Given the description of an element on the screen output the (x, y) to click on. 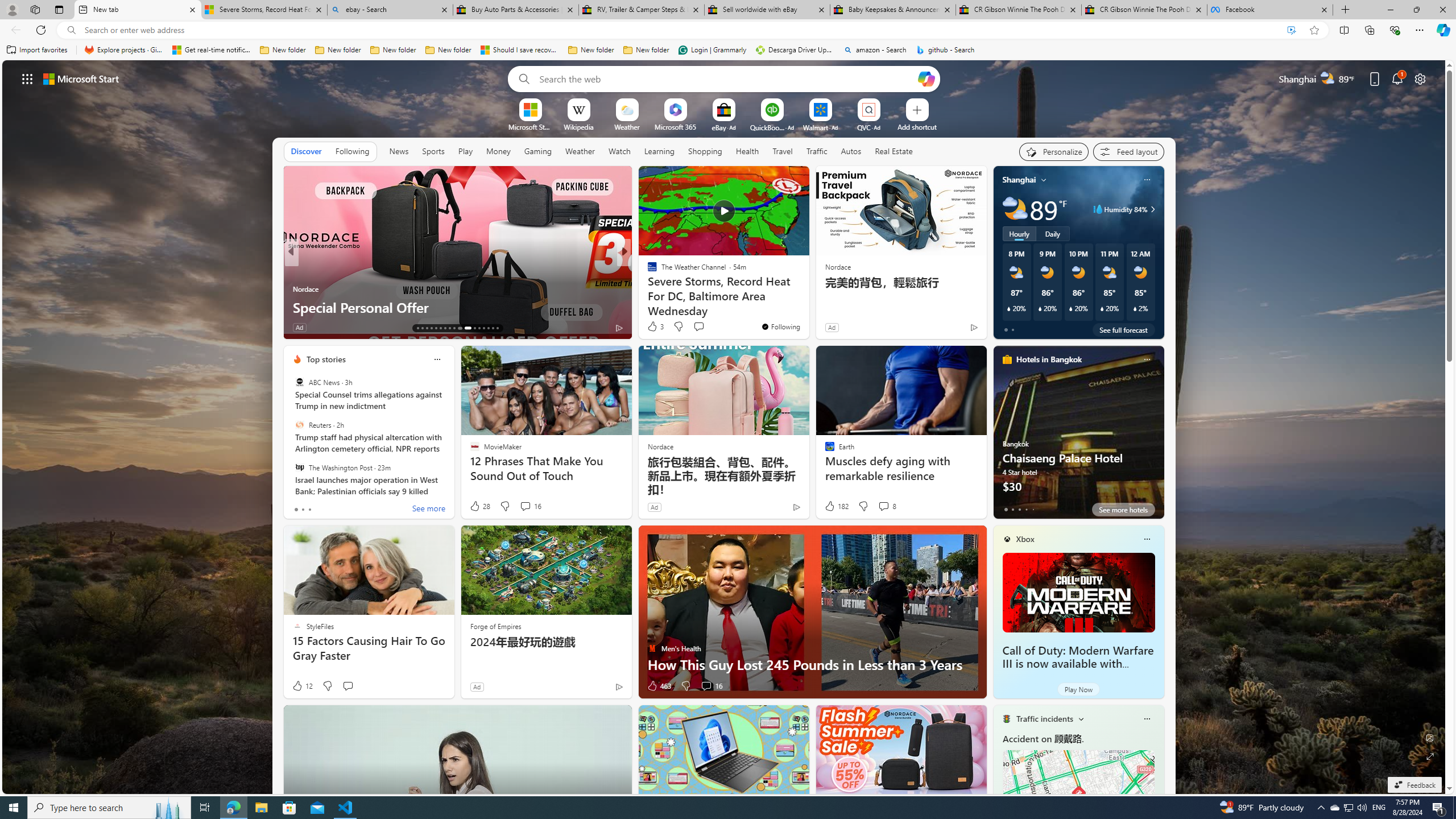
Login | Grammarly (712, 49)
Shanghai (1018, 179)
The History of the Windows Start Menu (807, 307)
Tab actions menu (58, 9)
See more (428, 509)
Dislike (685, 685)
Expand background (1430, 756)
Humidity 84% (1150, 208)
Baby Keepsakes & Announcements for sale | eBay (892, 9)
See more (795, 179)
Microsoft Start Sports (529, 126)
AutomationID: tab-18 (440, 328)
